Given the description of an element on the screen output the (x, y) to click on. 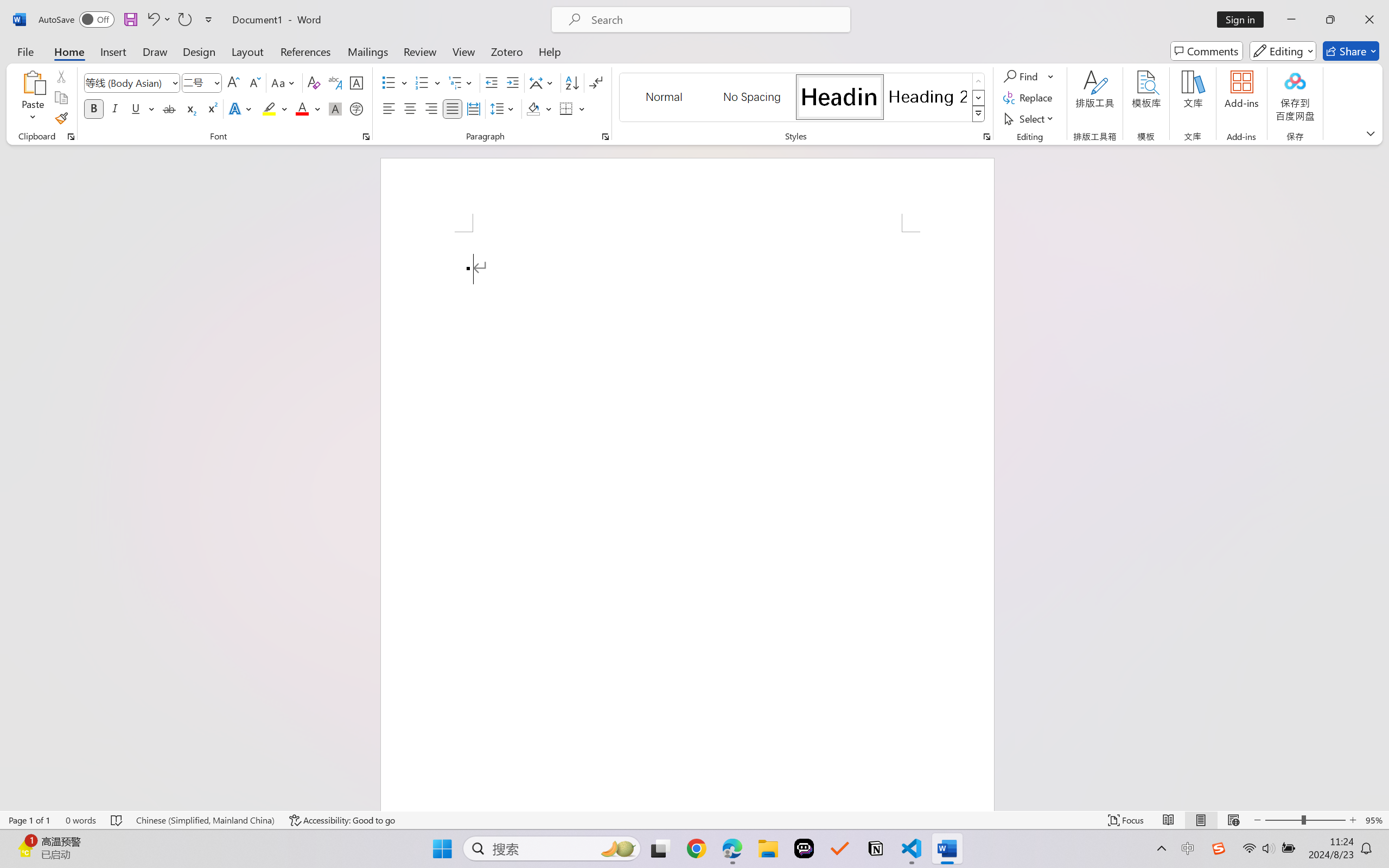
Language Chinese (Simplified, Mainland China) (205, 819)
Repeat Style (184, 19)
